Given the description of an element on the screen output the (x, y) to click on. 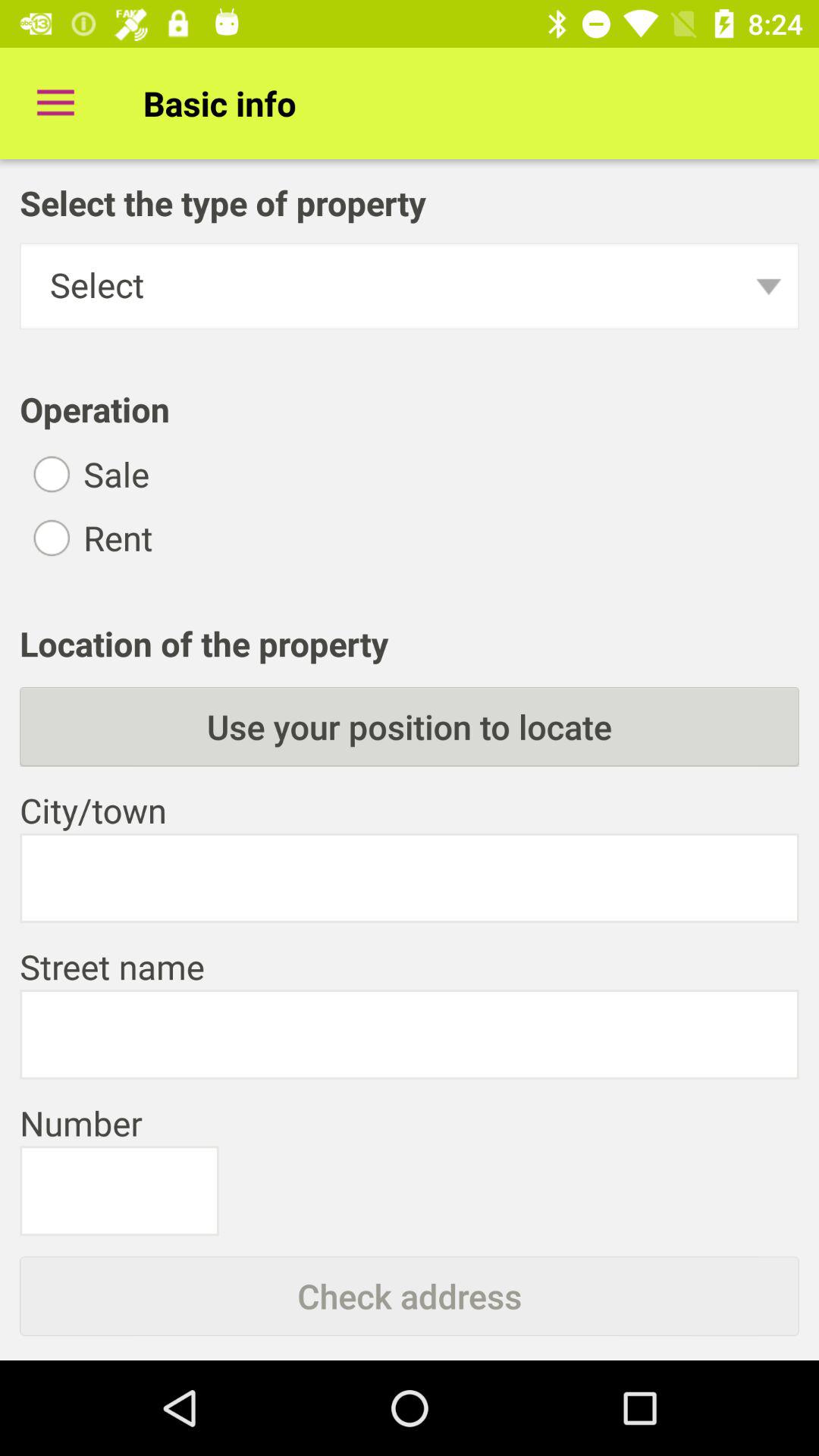
text field (118, 1190)
